Given the description of an element on the screen output the (x, y) to click on. 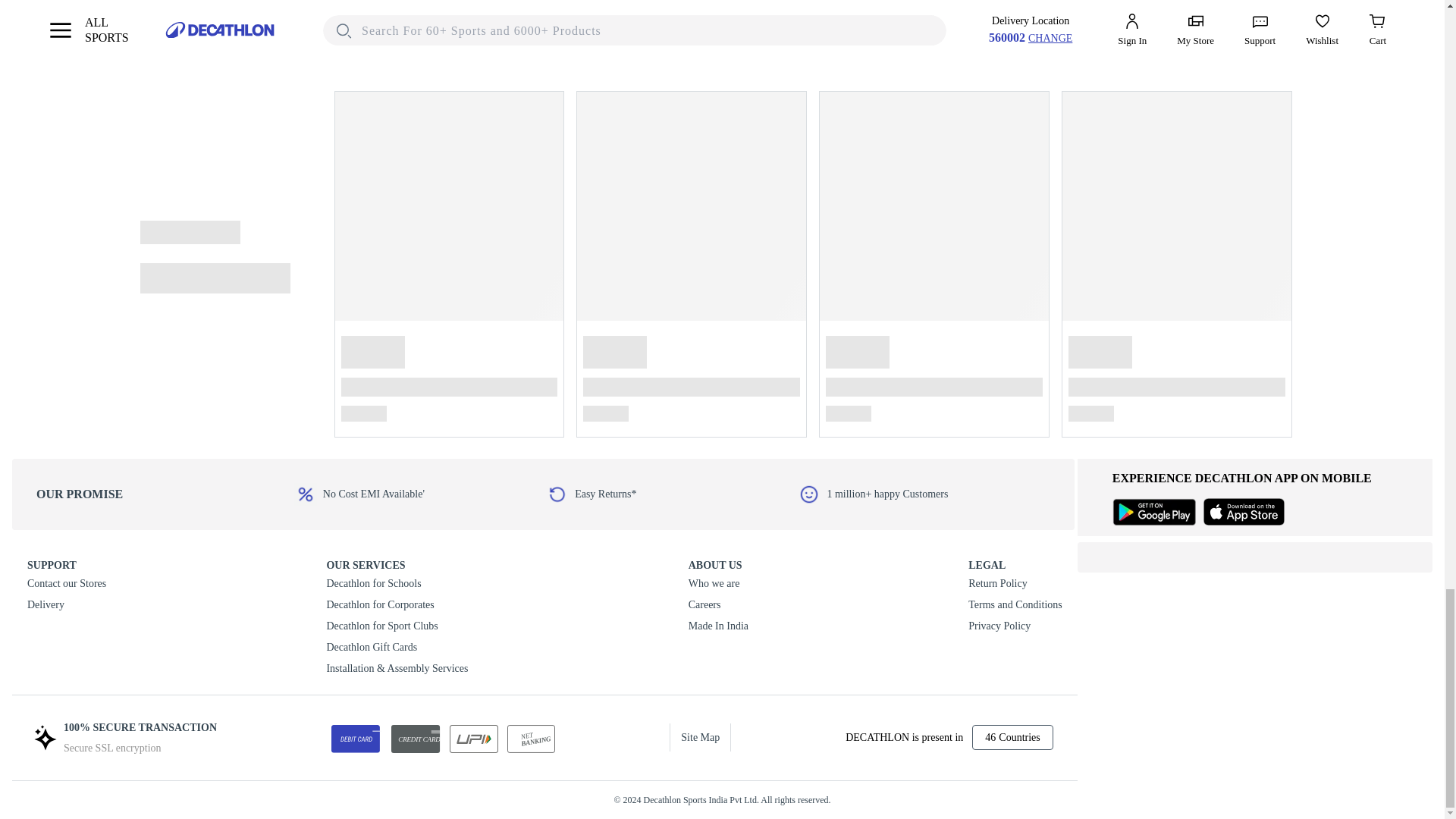
ADD TO CART (451, 38)
ADD TO CART (723, 37)
ADD TO CART (179, 37)
